Given the description of an element on the screen output the (x, y) to click on. 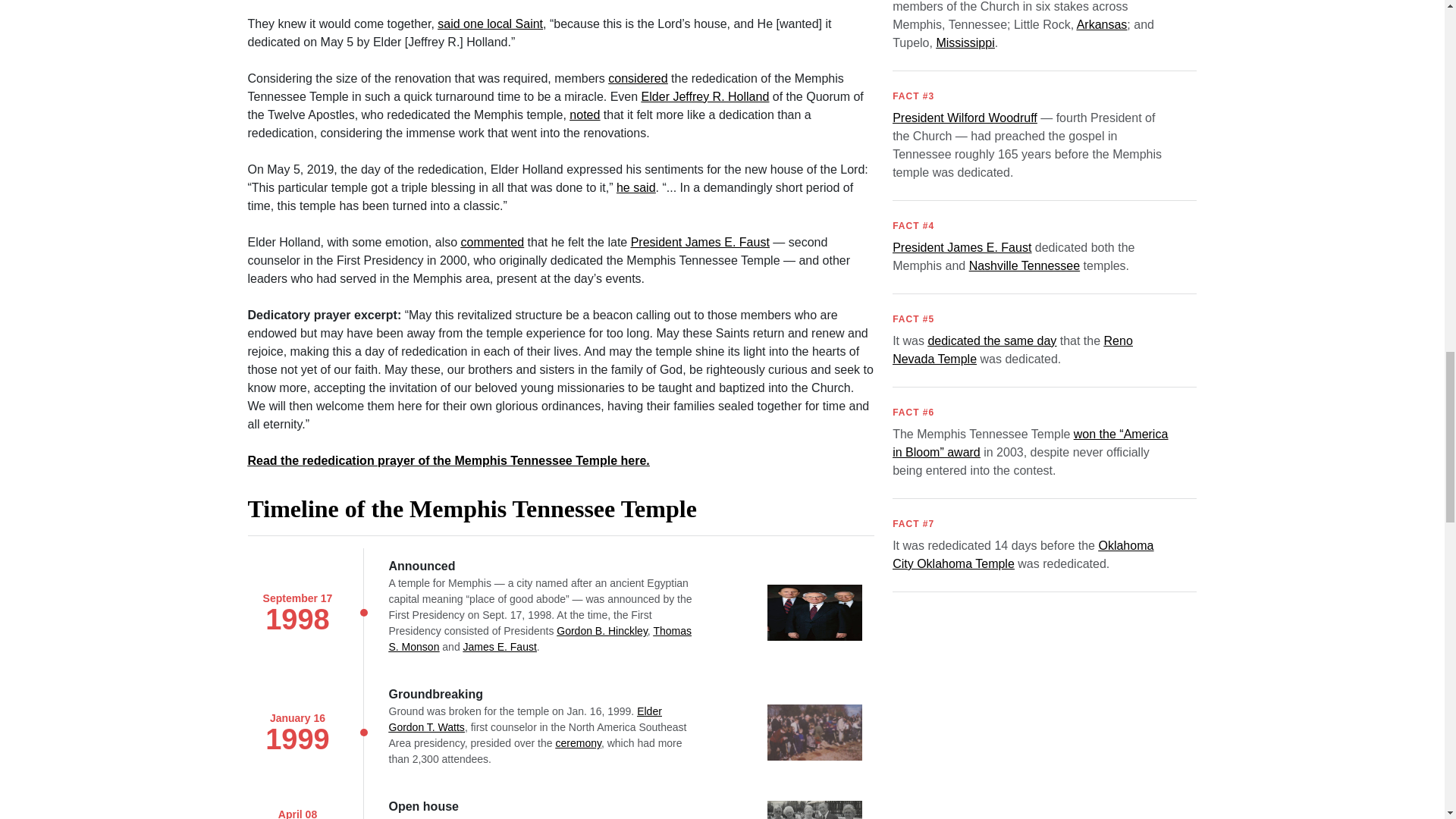
said one local Saint (490, 23)
considered (637, 78)
